Given the description of an element on the screen output the (x, y) to click on. 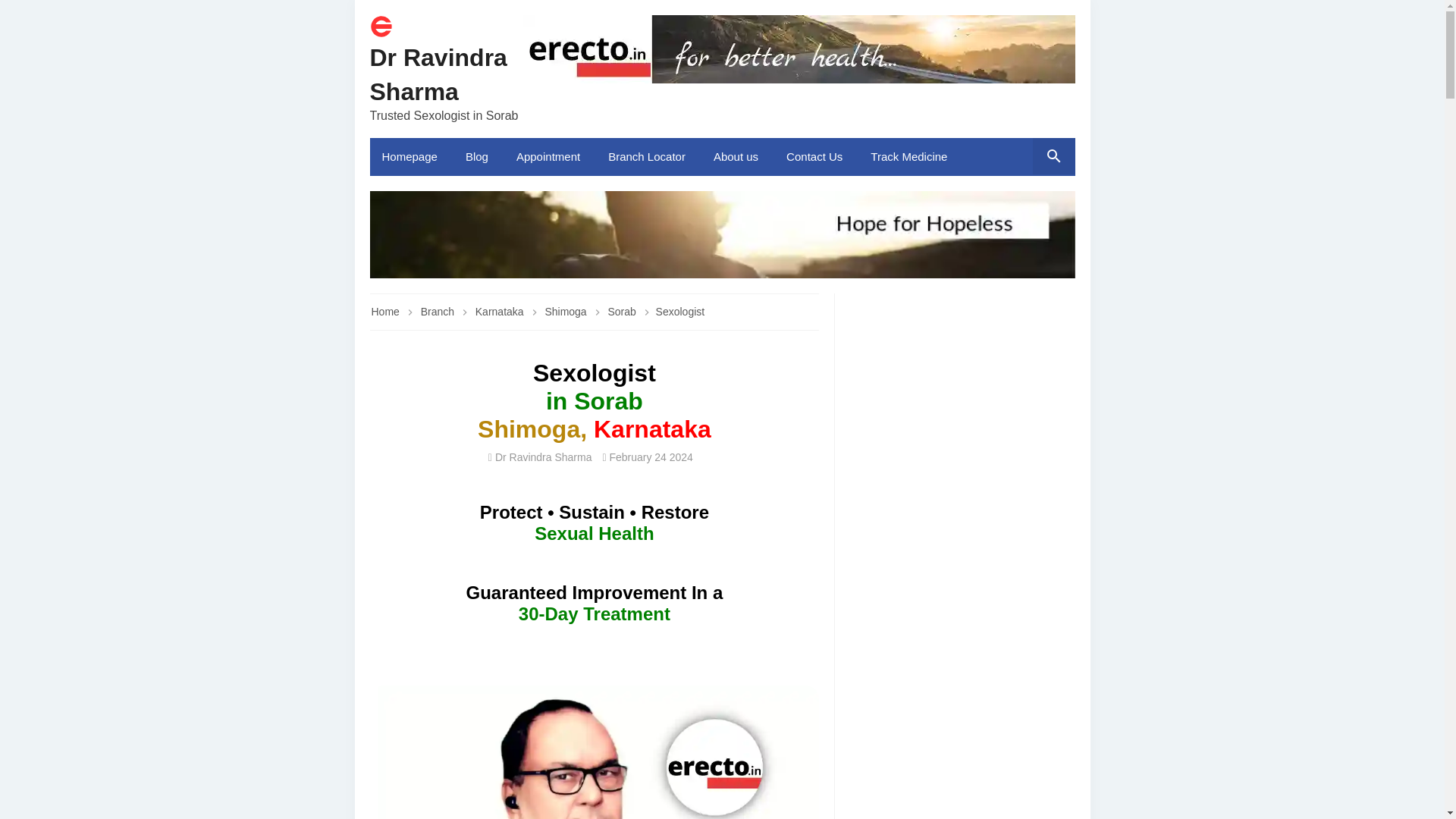
About us (737, 157)
Track Medicine (910, 157)
Sorab (623, 311)
Sexologist in Sorab (722, 234)
Appointment (549, 157)
Dr Ravindra Sharma (437, 74)
Shimoga (566, 311)
Branch (438, 311)
Sexologist in Sorab (594, 752)
Blog (477, 157)
